Given the description of an element on the screen output the (x, y) to click on. 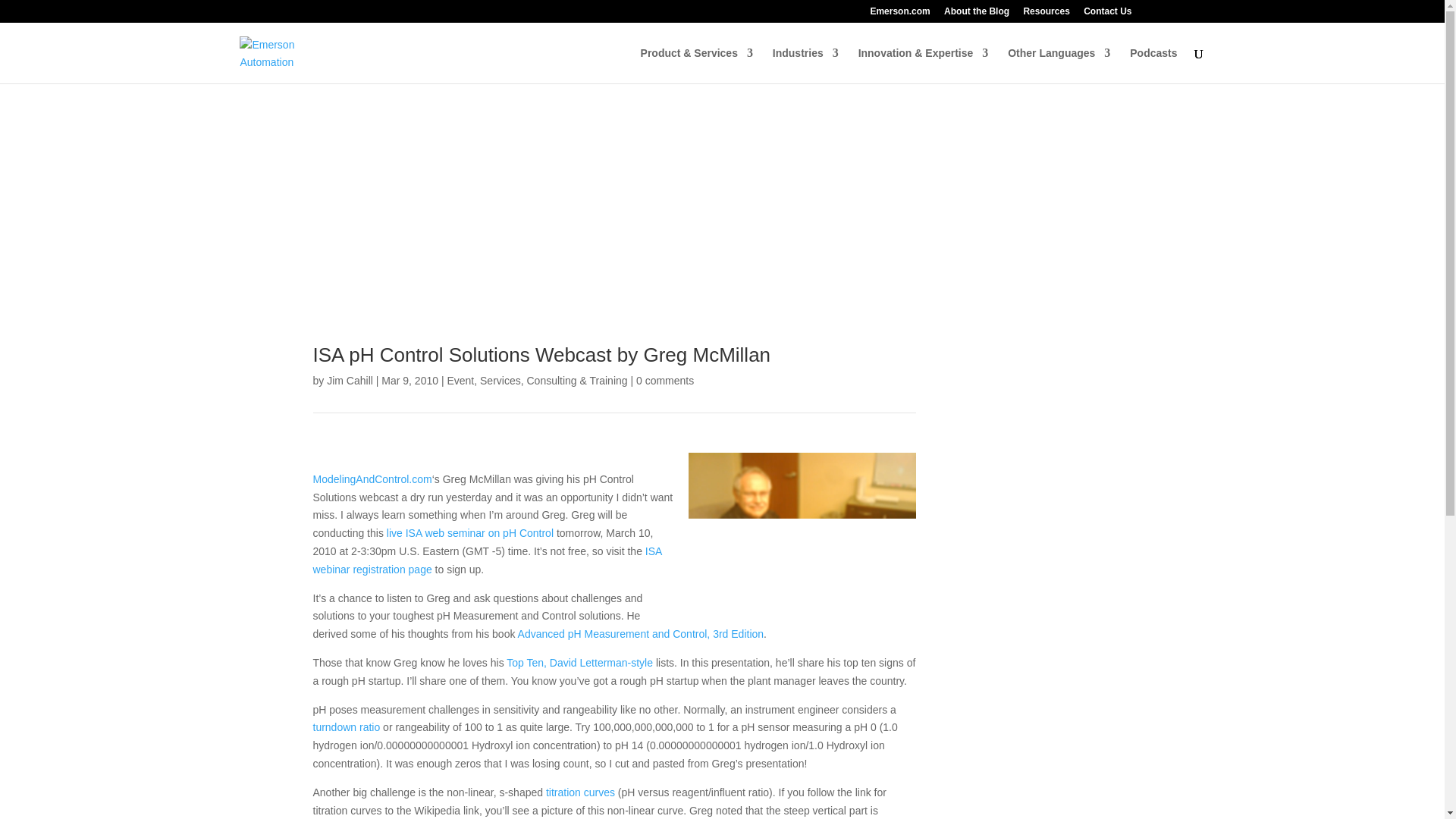
Emerson.com (899, 14)
Contact Us (1107, 14)
Industries (805, 65)
Resources (1045, 14)
About the Blog (976, 14)
Posts by Jim Cahill (349, 380)
Greg McMillan practicing Wednesday ISA pH Seminar (801, 537)
